Given the description of an element on the screen output the (x, y) to click on. 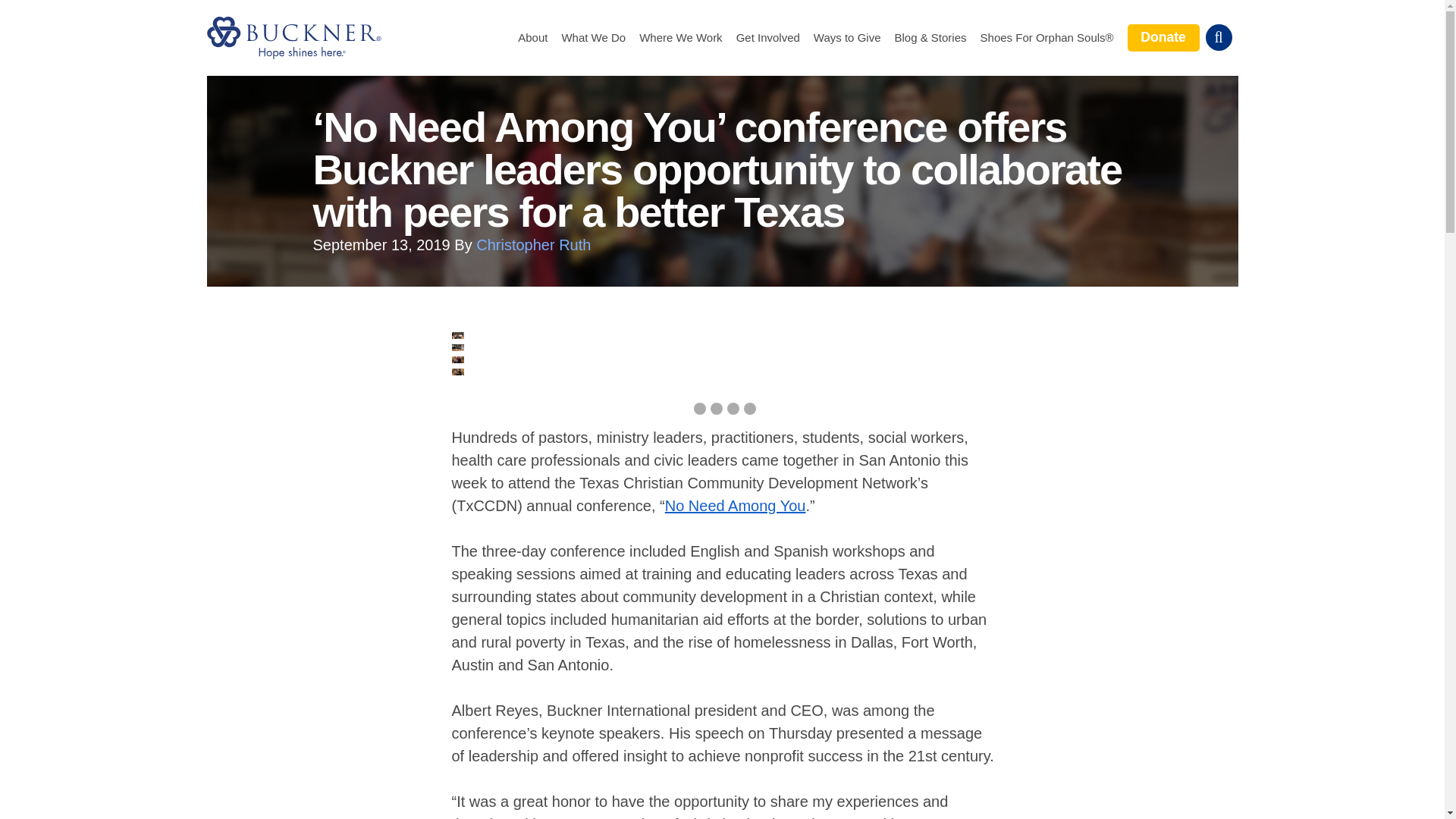
Christopher Ruth (533, 244)
Where We Work (680, 37)
Get Involved (767, 37)
Buckner International  (293, 37)
Donate (1162, 37)
No Need Among You (735, 505)
Toggle Search (1218, 37)
Ways to Give (846, 37)
